Given the description of an element on the screen output the (x, y) to click on. 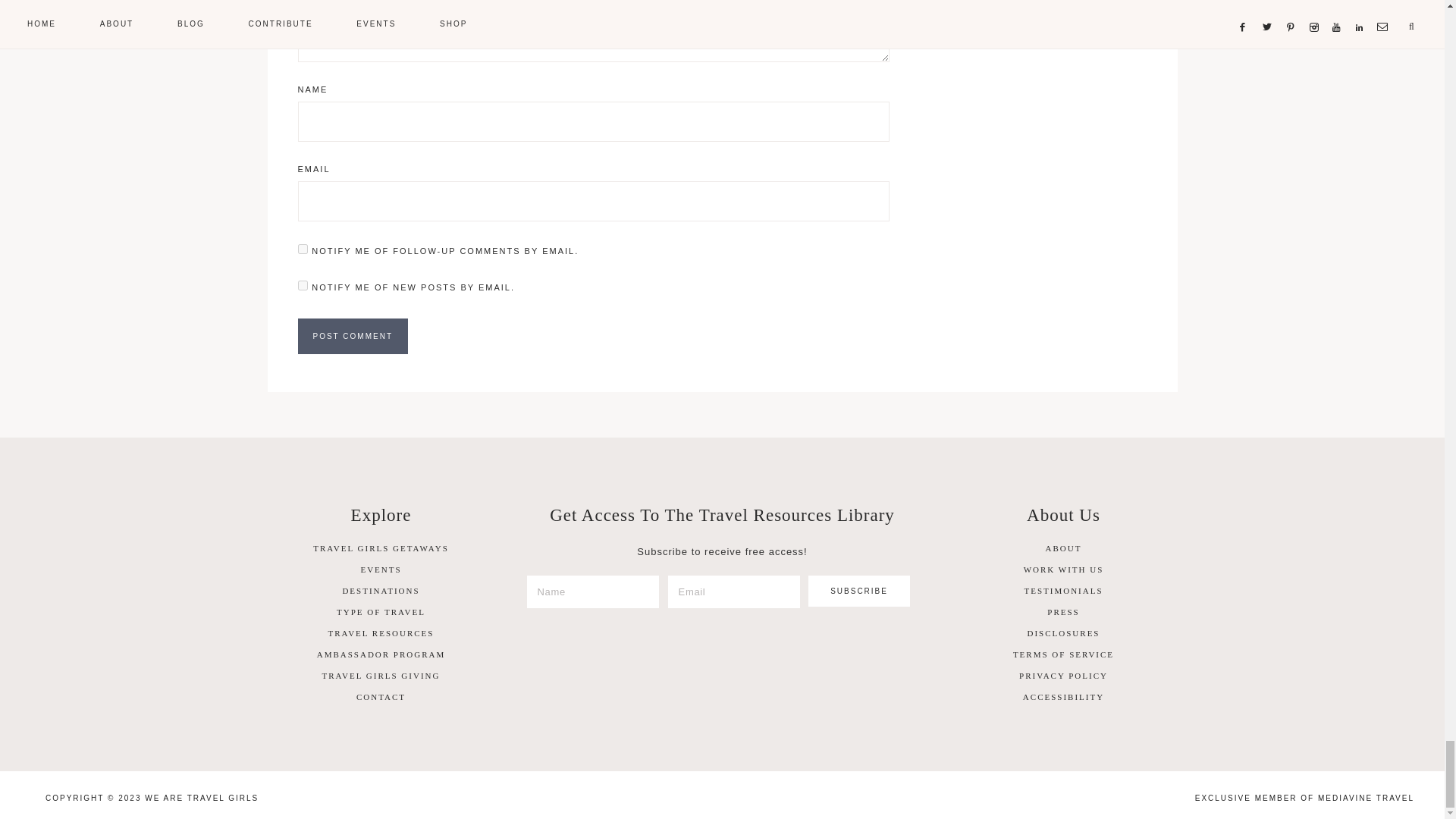
Subscribe (859, 590)
Post Comment (352, 335)
subscribe (302, 285)
subscribe (302, 248)
